Given the description of an element on the screen output the (x, y) to click on. 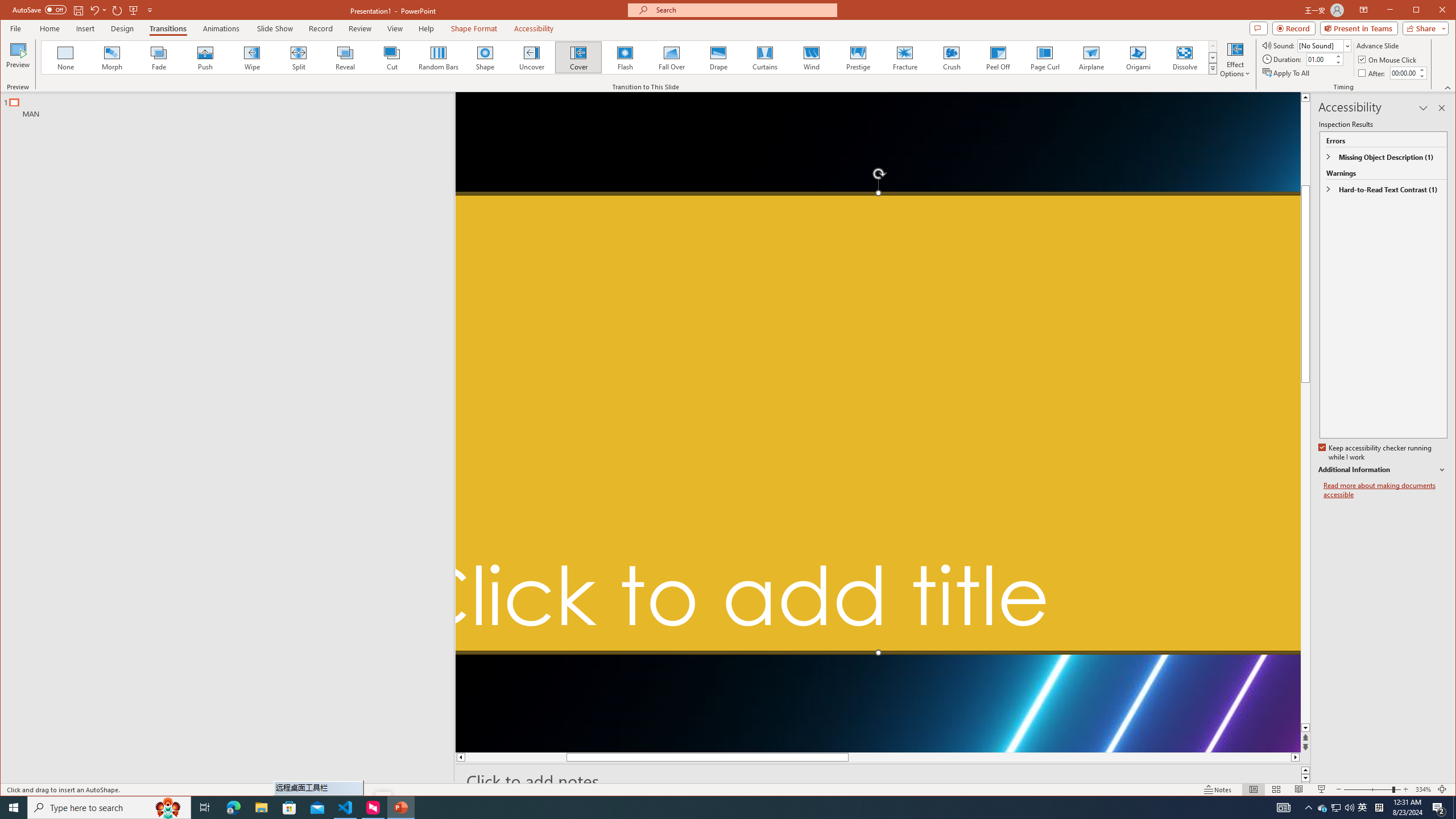
Reveal (344, 57)
Wind (810, 57)
Cover (577, 57)
Wipe (251, 57)
Uncover (531, 57)
Flash (624, 57)
Title TextBox (877, 422)
